Given the description of an element on the screen output the (x, y) to click on. 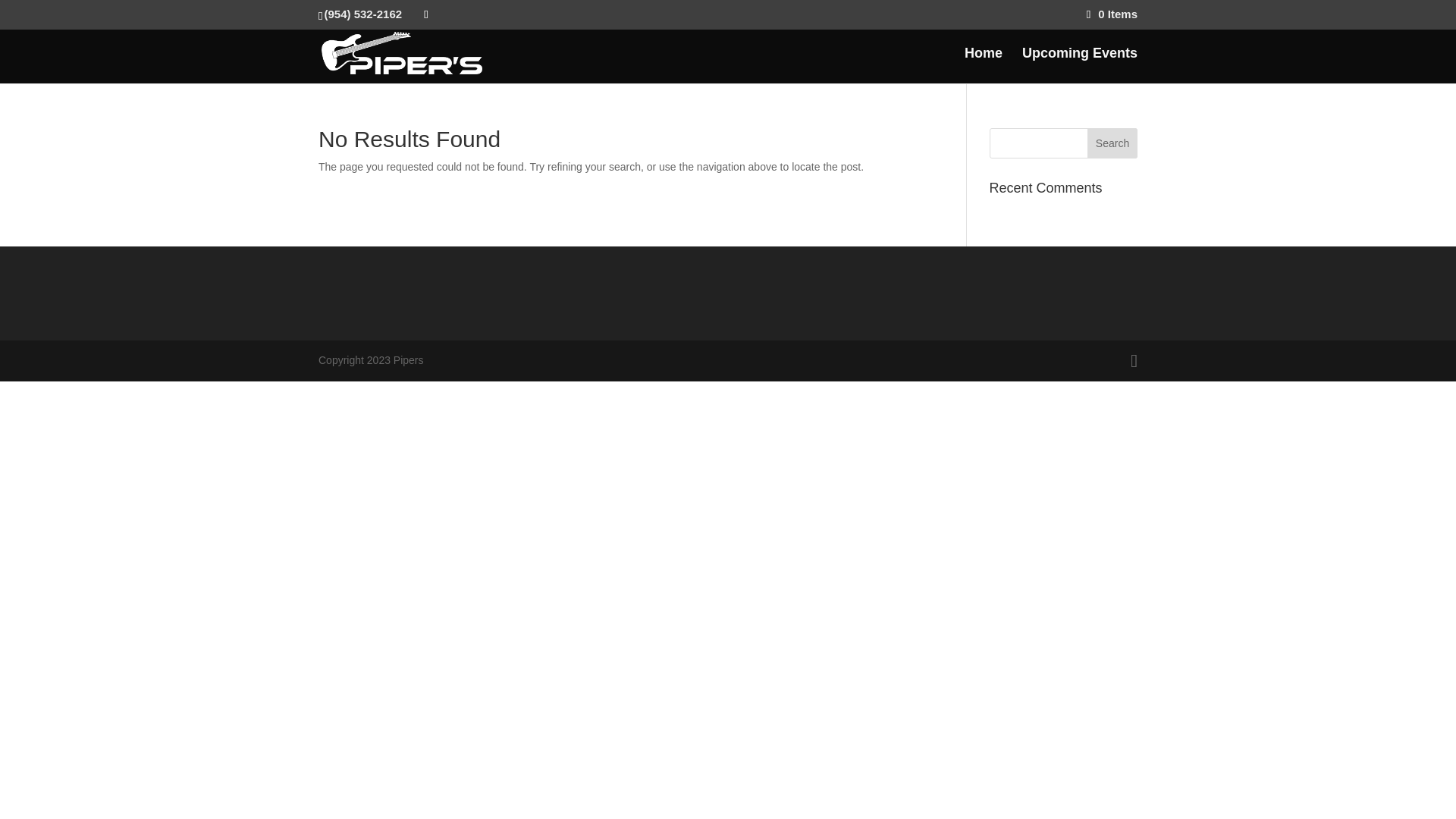
Search (1112, 142)
Home (983, 65)
Upcoming Events (1079, 65)
0 Items (1111, 13)
Search (1112, 142)
